Given the description of an element on the screen output the (x, y) to click on. 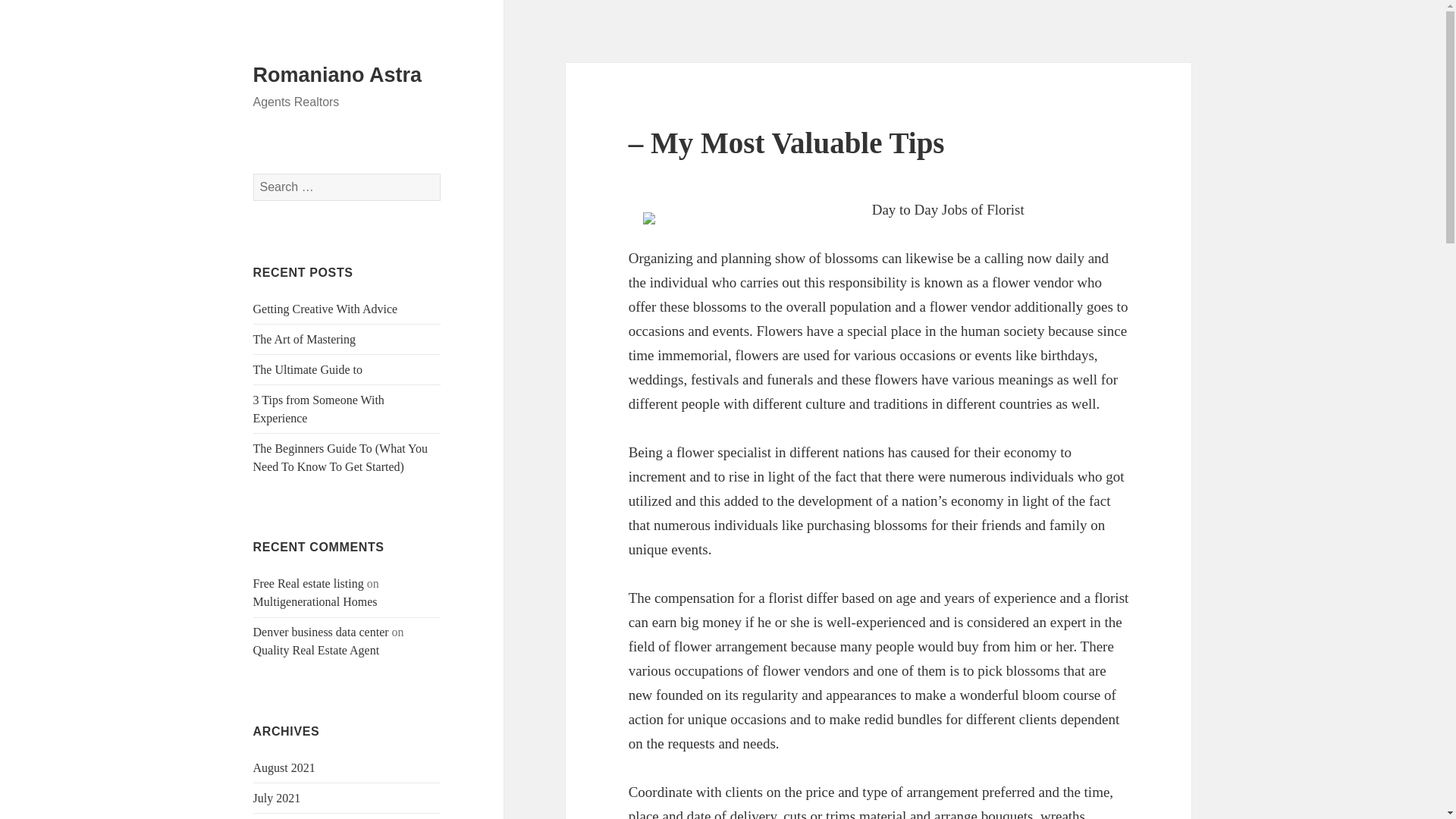
August 2021 (284, 767)
Multigenerational Homes (315, 601)
Quality Real Estate Agent (316, 649)
3 Tips from Someone With Experience (318, 409)
The Art of Mastering (304, 338)
Denver business data center (320, 631)
Romaniano Astra (337, 74)
Free Real estate listing (308, 583)
The Ultimate Guide to (307, 369)
Getting Creative With Advice (325, 308)
July 2021 (277, 797)
